Given the description of an element on the screen output the (x, y) to click on. 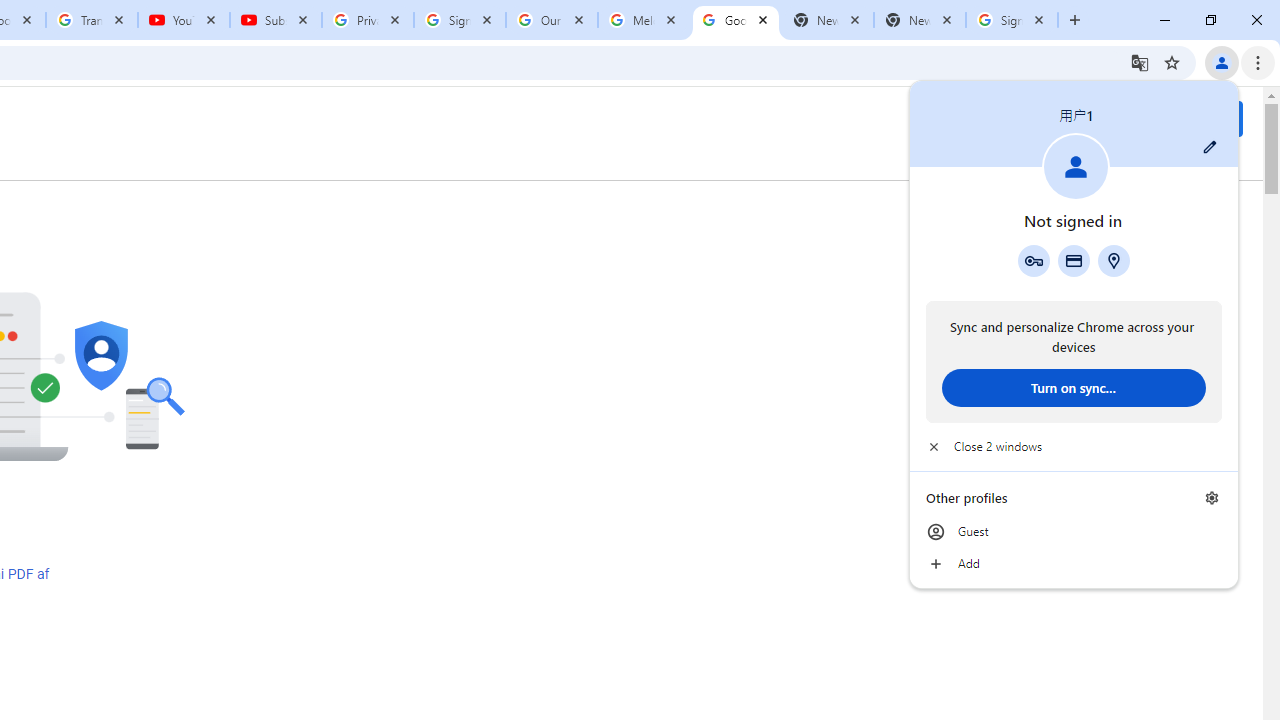
Sign in - Google Accounts (459, 20)
YouTube (184, 20)
Payment methods (1074, 260)
Addresses and more (1114, 260)
Sign in - Google Accounts (1012, 20)
Close 2 windows (1073, 446)
